Given the description of an element on the screen output the (x, y) to click on. 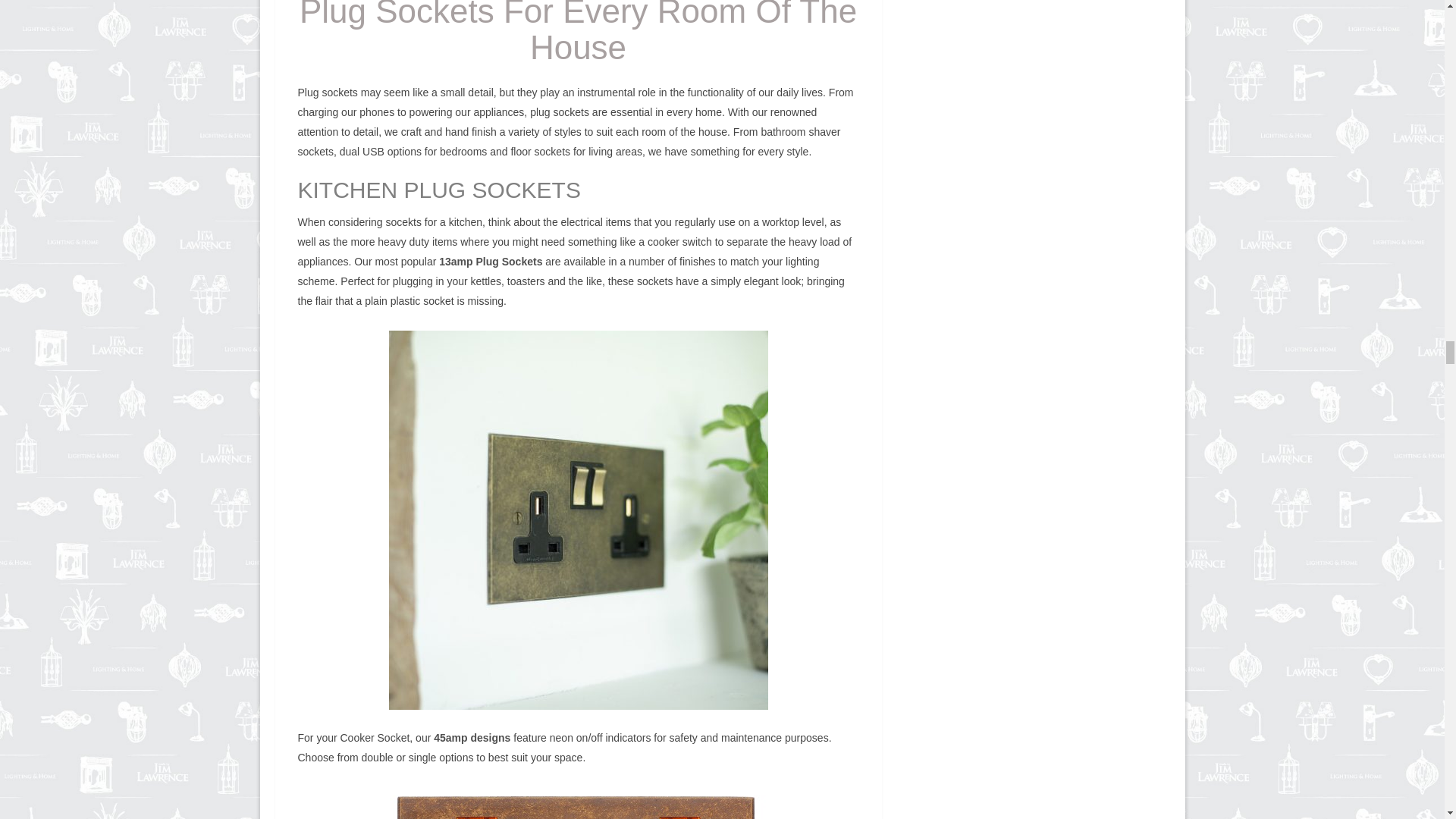
Permanent Link to Plug Sockets For Every Room Of The House (578, 33)
